Given the description of an element on the screen output the (x, y) to click on. 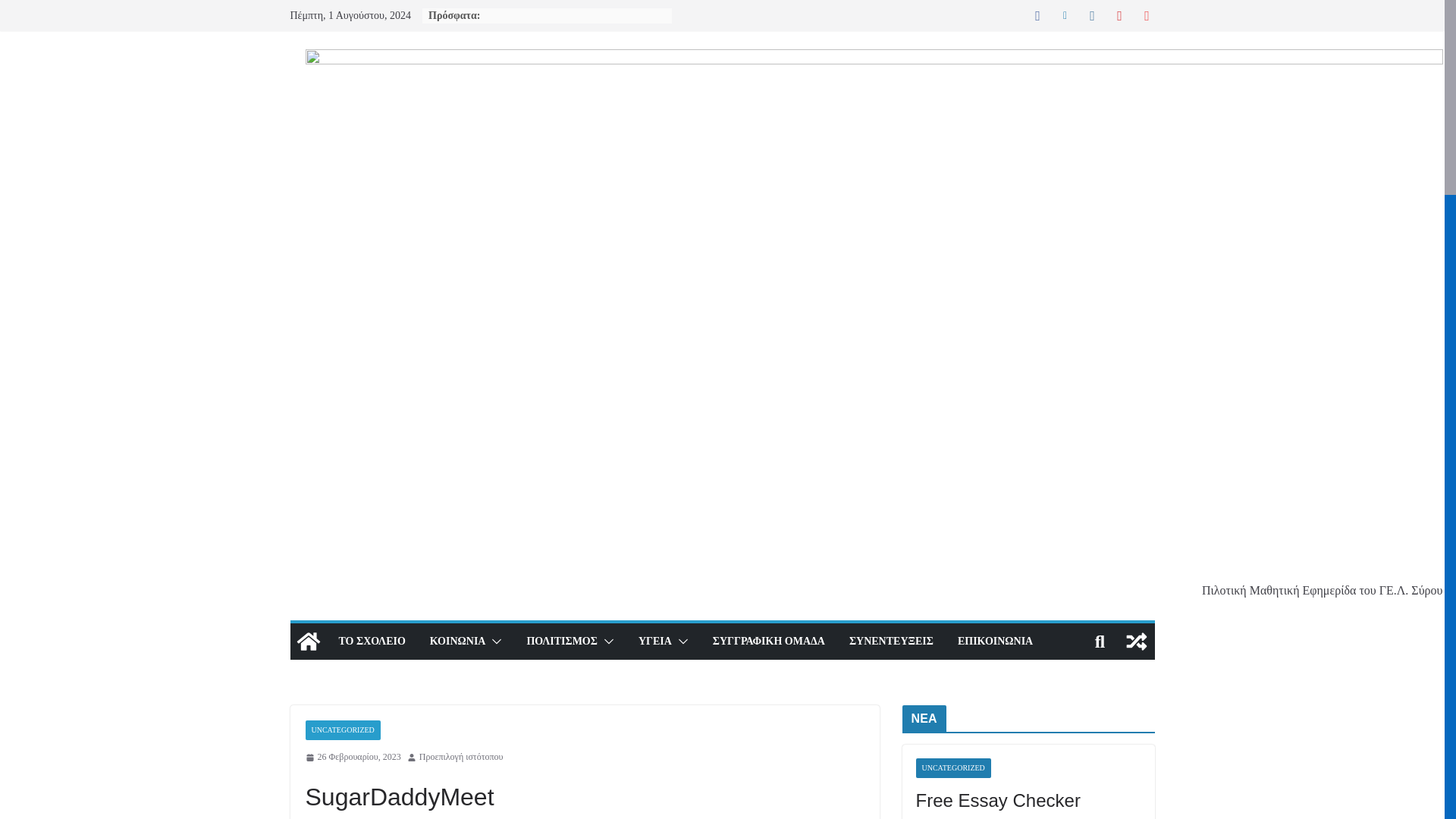
UNCATEGORIZED (342, 730)
